Given the description of an element on the screen output the (x, y) to click on. 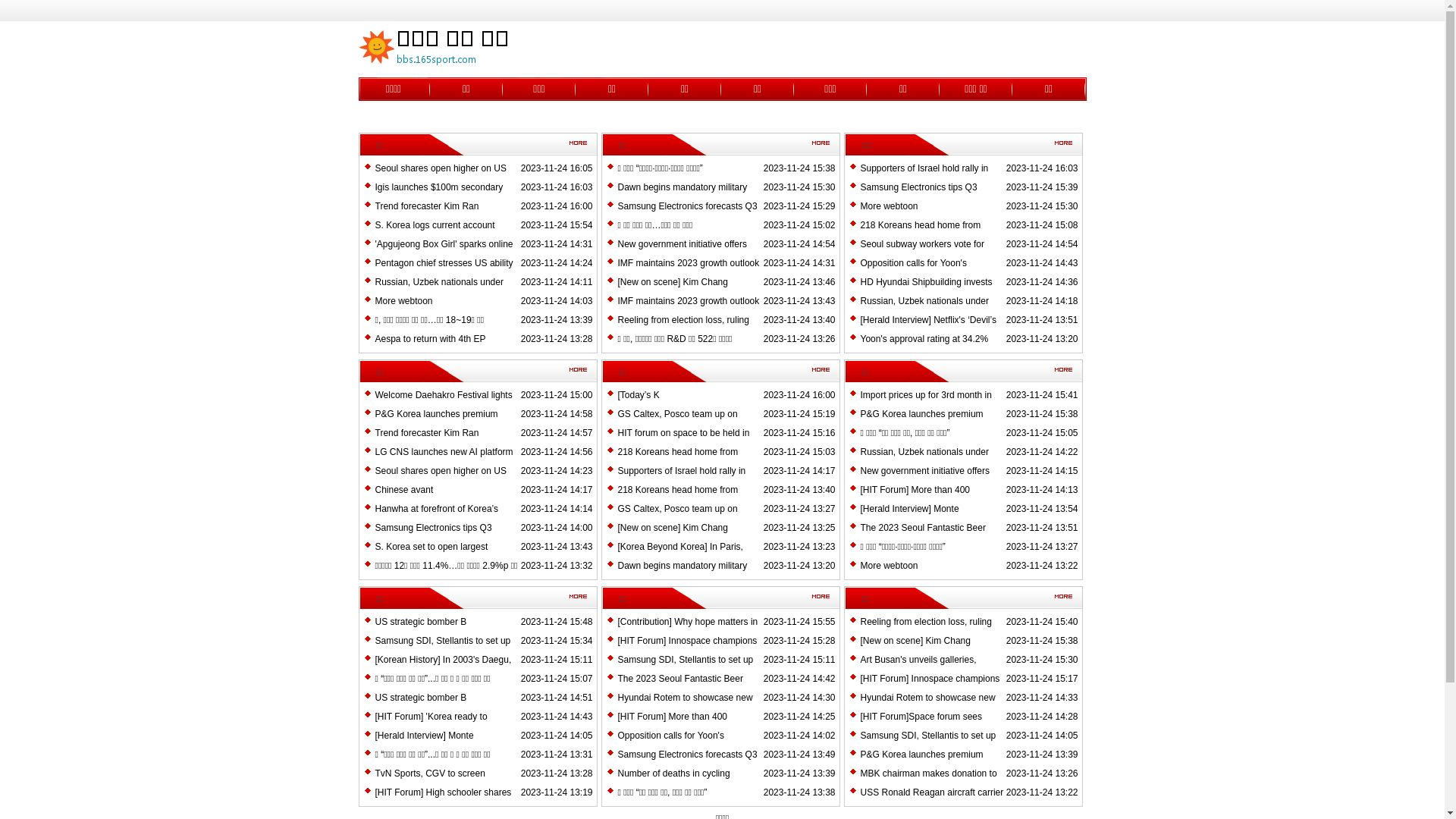
Samsung SDI, Stellantis to set up 2nd JV plant in Indiana Element type: text (685, 668)
Dawn begins mandatory military service Element type: text (681, 574)
[New on scene] Kim Chang Element type: text (672, 281)
The 2023 Seoul Fantastic Beer Festival Element type: text (679, 687)
IMF maintains 2023 growth outlook for S. Korea at 1.4 pct Element type: text (688, 271)
Samsung SDI, Stellantis to set up 2nd JV plant in Indiana Element type: text (927, 744)
[HIT Forum] Innospace champions small satellite renaissance Element type: text (929, 687)
Igis launches $100m secondary fund for overseas investment Element type: text (438, 196)
Opposition calls for Yoon's overhaul of Cabinet after by Element type: text (915, 271)
[HIT Forum] 'Korea ready to become aerospace powerhouse' Element type: text (439, 725)
Number of deaths in cycling accidents soars Element type: text (673, 782)
Samsung Electronics forecasts Q3 rebound Element type: text (686, 763)
P&G Korea launches premium diaper to combat skin dryness Element type: text (920, 763)
More webtoon Element type: text (888, 205)
[New on scene] Kim Chang Element type: text (672, 527)
Seoul subway workers vote for strike plan Element type: text (921, 252)
More webtoon Element type: text (403, 300)
[Herald Interview] Monte Element type: text (908, 508)
The 2023 Seoul Fantastic Beer Festival Element type: text (922, 536)
218 Koreans head home from Israel: Foreign Ministry Element type: text (919, 233)
GS Caltex, Posco team up on biofuel Element type: text (677, 517)
Opposition calls for Yoon's overhaul of Cabinet after by Element type: text (672, 744)
GS Caltex, Posco team up on biofuel Element type: text (677, 422)
[HIT Forum] High schooler shares his space dream Element type: text (442, 801)
218 Koreans head home from Israel: Foreign Ministry Element type: text (677, 460)
More webtoon Element type: text (888, 565)
218 Koreans head home from Israel: Foreign Ministry Element type: text (677, 498)
[Contribution] Why hope matters in climate crisis Element type: text (687, 630)
P&G Korea launches premium diaper to combat skin dryness Element type: text (920, 422)
Seoul shares open higher on US gains Element type: text (439, 177)
US strategic bomber B Element type: text (420, 697)
HIT forum on space to be held in Seoul Element type: text (683, 441)
[HIT Forum] Innospace champions small satellite renaissance Element type: text (686, 649)
'Apgujeong Box Girl' sparks online debate Element type: text (443, 252)
[New on scene] Kim Chang Element type: text (914, 640)
Chinese avant Element type: text (403, 489)
Samsung SDI, Stellantis to set up 2nd JV plant in Indiana Element type: text (442, 649)
Trend forecaster Kim Ran Element type: text (426, 432)
Welcome Daehakro Festival lights up Seoul's stage hub Element type: text (442, 403)
US strategic bomber B Element type: text (420, 621)
S. Korea set to open largest Element type: text (430, 546)
LG CNS launches new AI platform for corporate clients Element type: text (443, 460)
Samsung Electronics forecasts Q3 rebound Element type: text (686, 214)
IMF maintains 2023 growth outlook for S. Korea at 1.4 pct Element type: text (688, 309)
Trend forecaster Kim Ran Element type: text (426, 205)
[Herald Interview] Monte Element type: text (423, 735)
Dawn begins mandatory military service Element type: text (681, 196)
P&G Korea launches premium diaper to combat skin dryness Element type: text (435, 422)
Seoul shares open higher on US gains Element type: text (439, 479)
